Given the description of an element on the screen output the (x, y) to click on. 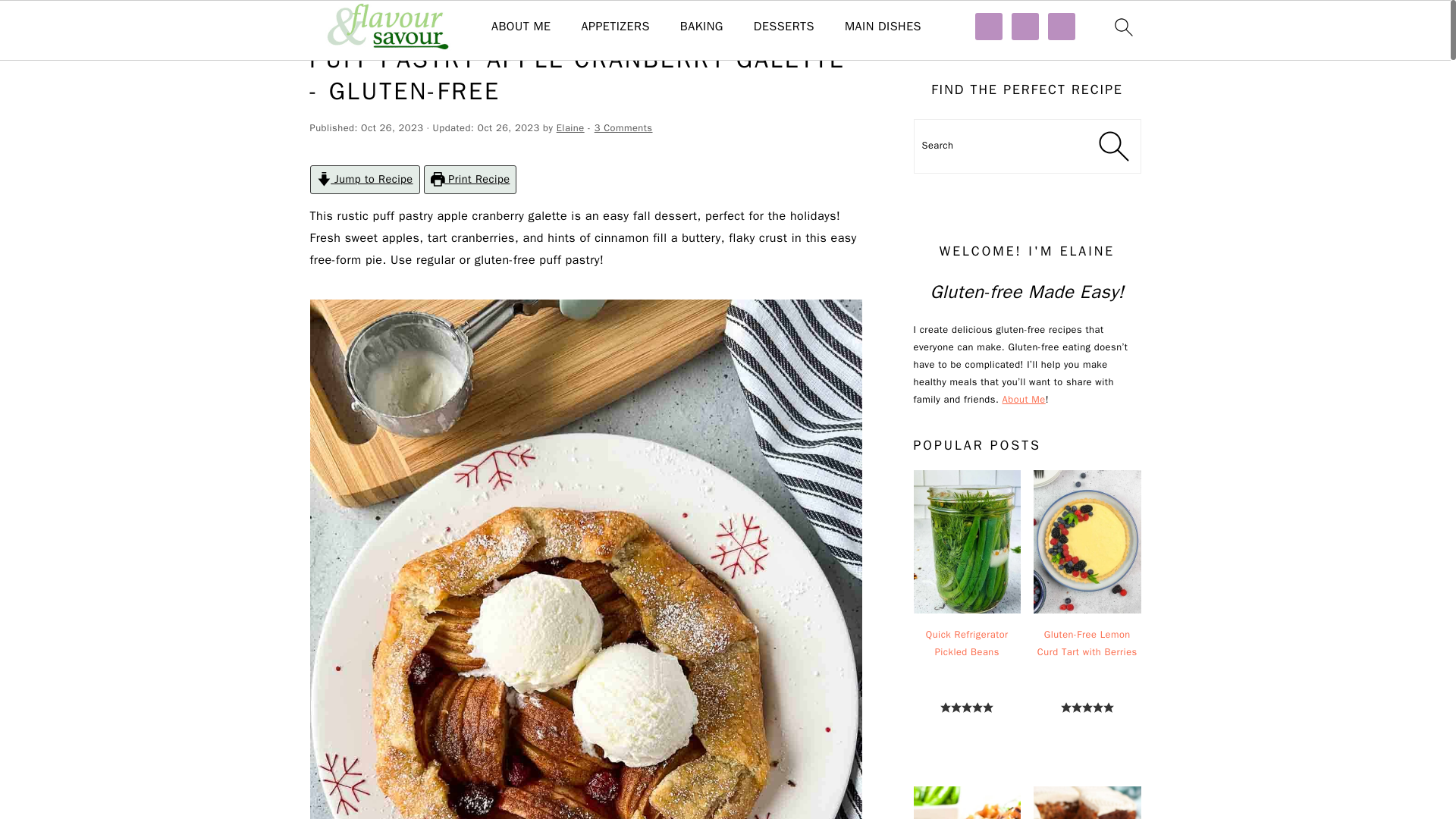
Jump to Recipe (363, 179)
Gluten-Free Desserts (395, 23)
Main Dishes (882, 26)
search icon (1122, 26)
ABOUT ME (521, 26)
DESSERTS (783, 26)
Desserts (783, 26)
Baking Recipes (701, 26)
Elaine (570, 128)
3 Comments (623, 128)
BAKING (701, 26)
Print Recipe (469, 179)
MAIN DISHES (882, 26)
Pies and Tarts (487, 23)
